Given the description of an element on the screen output the (x, y) to click on. 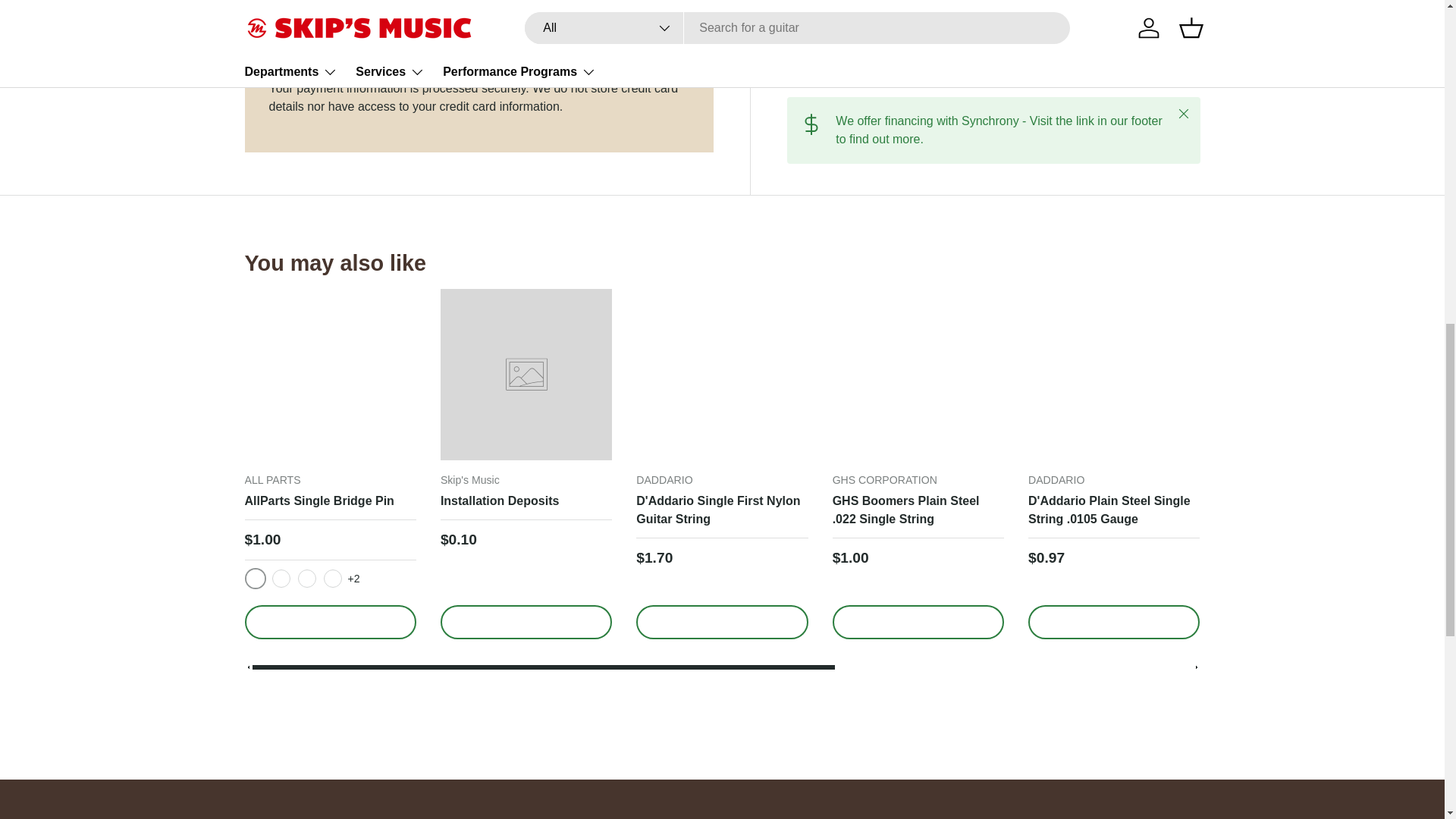
BLACK WHITE DOT (279, 578)
BLACK (254, 578)
WHITE BLACK DOT (331, 578)
Pin on Pinterest (913, 63)
WHITE (306, 578)
Share on Facebook (879, 63)
Tweet on X (846, 63)
